Given the description of an element on the screen output the (x, y) to click on. 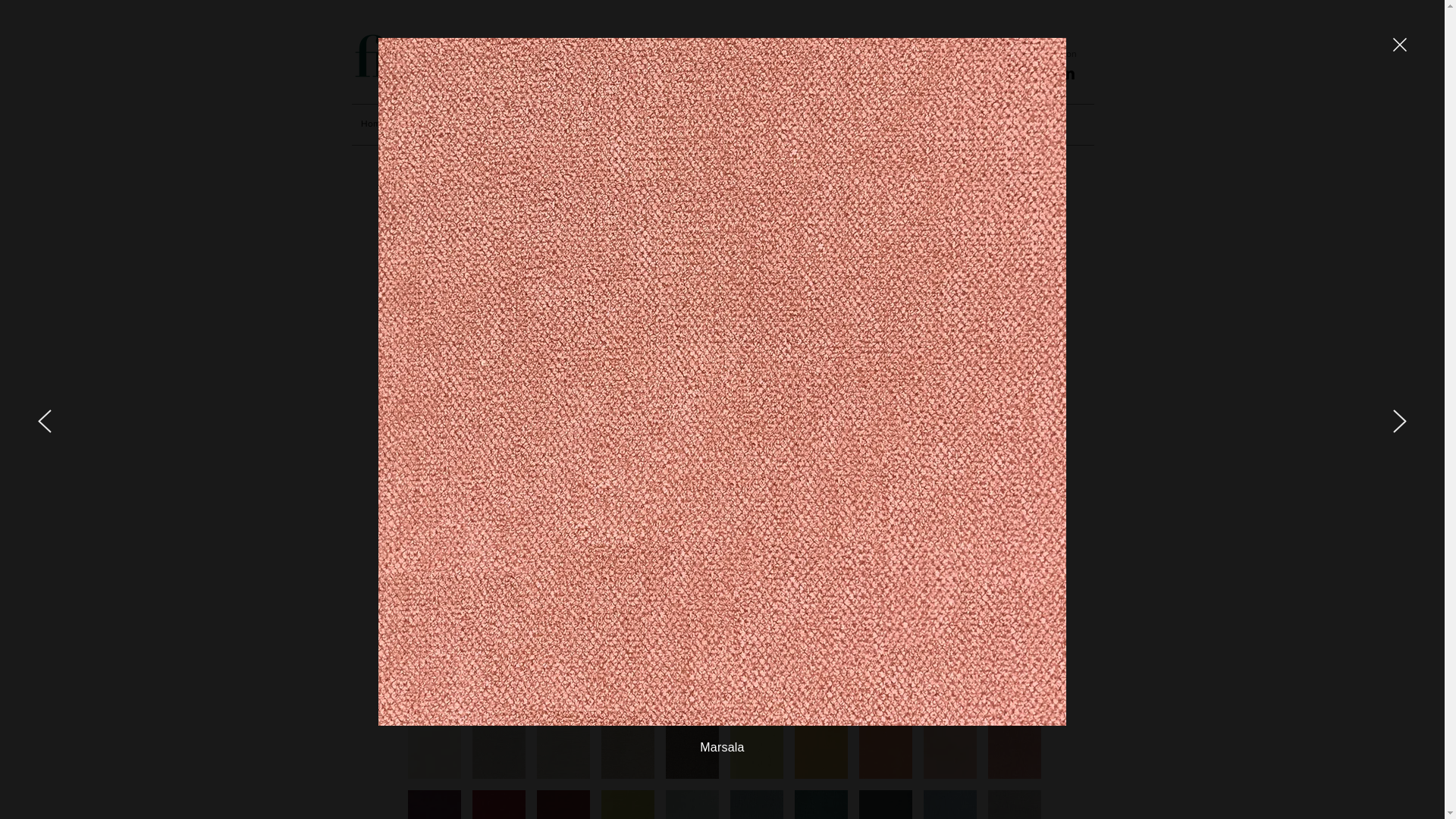
Download a PDF Version of our newest ranges here. Element type: text (515, 322)
Fineseat_Logo_gr.gif Element type: hover (451, 55)
Education Range Element type: text (514, 123)
Visitor Seating Element type: text (749, 123)
Timber Chairs Element type: text (926, 123)
Home Element type: text (375, 123)
Executive Element type: text (673, 123)
About Us Element type: text (433, 123)
sales@fineseat.com.au Element type: text (738, 296)
Site Search Element type: hover (874, 64)
Contract Seating Element type: text (838, 123)
Task Seating Element type: text (601, 123)
